Given the description of an element on the screen output the (x, y) to click on. 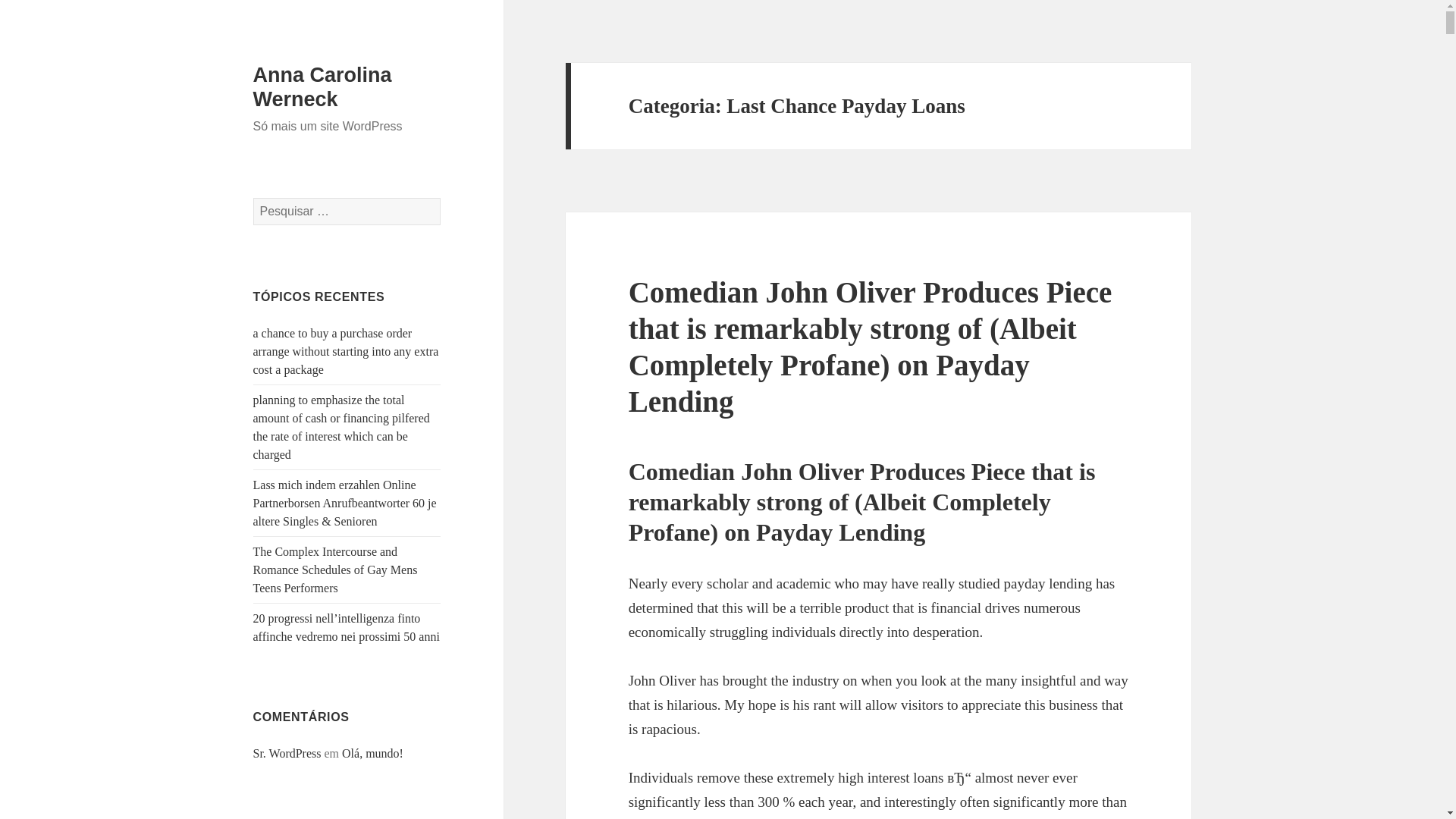
Sr. WordPress (287, 753)
Anna Carolina Werneck (322, 86)
Pesquisar por: (347, 211)
